Given the description of an element on the screen output the (x, y) to click on. 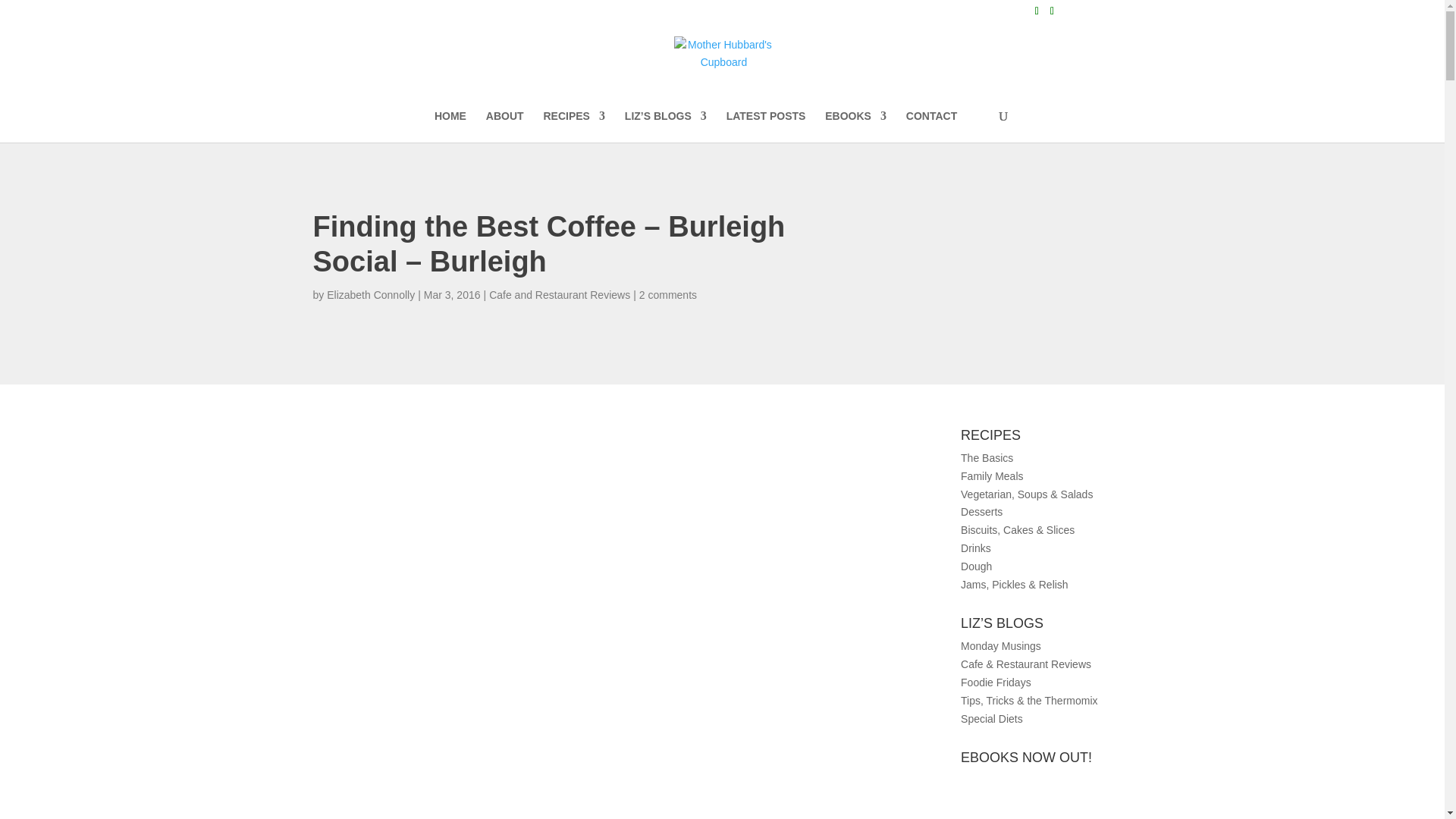
Posts by Elizabeth Connolly (370, 295)
0 Items (1105, 10)
ABOUT (505, 126)
HOME (449, 126)
RECIPES (573, 126)
LATEST POSTS (766, 126)
EBOOKS (855, 126)
2 comments (668, 295)
Elizabeth Connolly (370, 295)
CONTACT (930, 126)
